Given the description of an element on the screen output the (x, y) to click on. 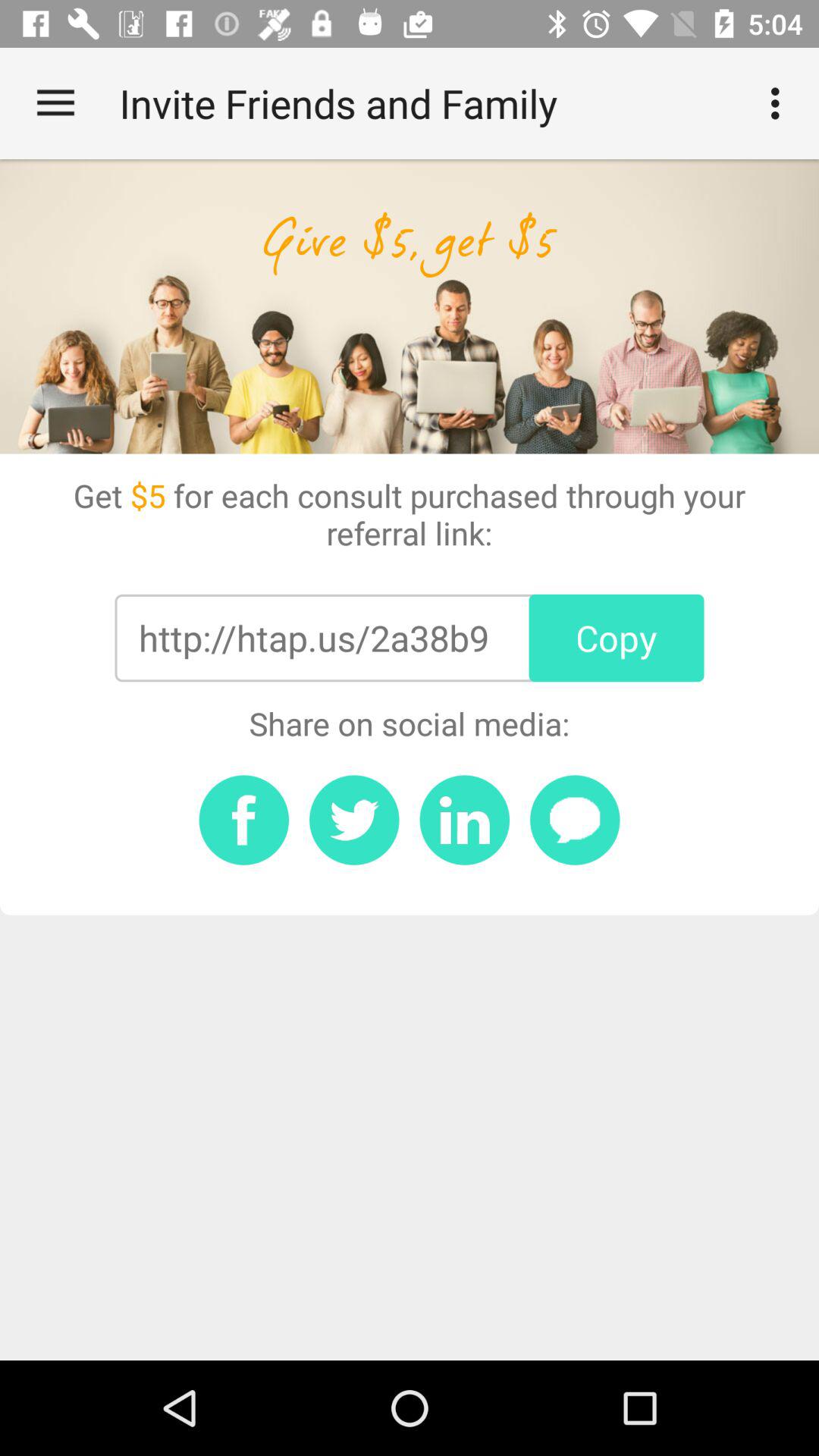
share on whatsapp (574, 820)
